Given the description of an element on the screen output the (x, y) to click on. 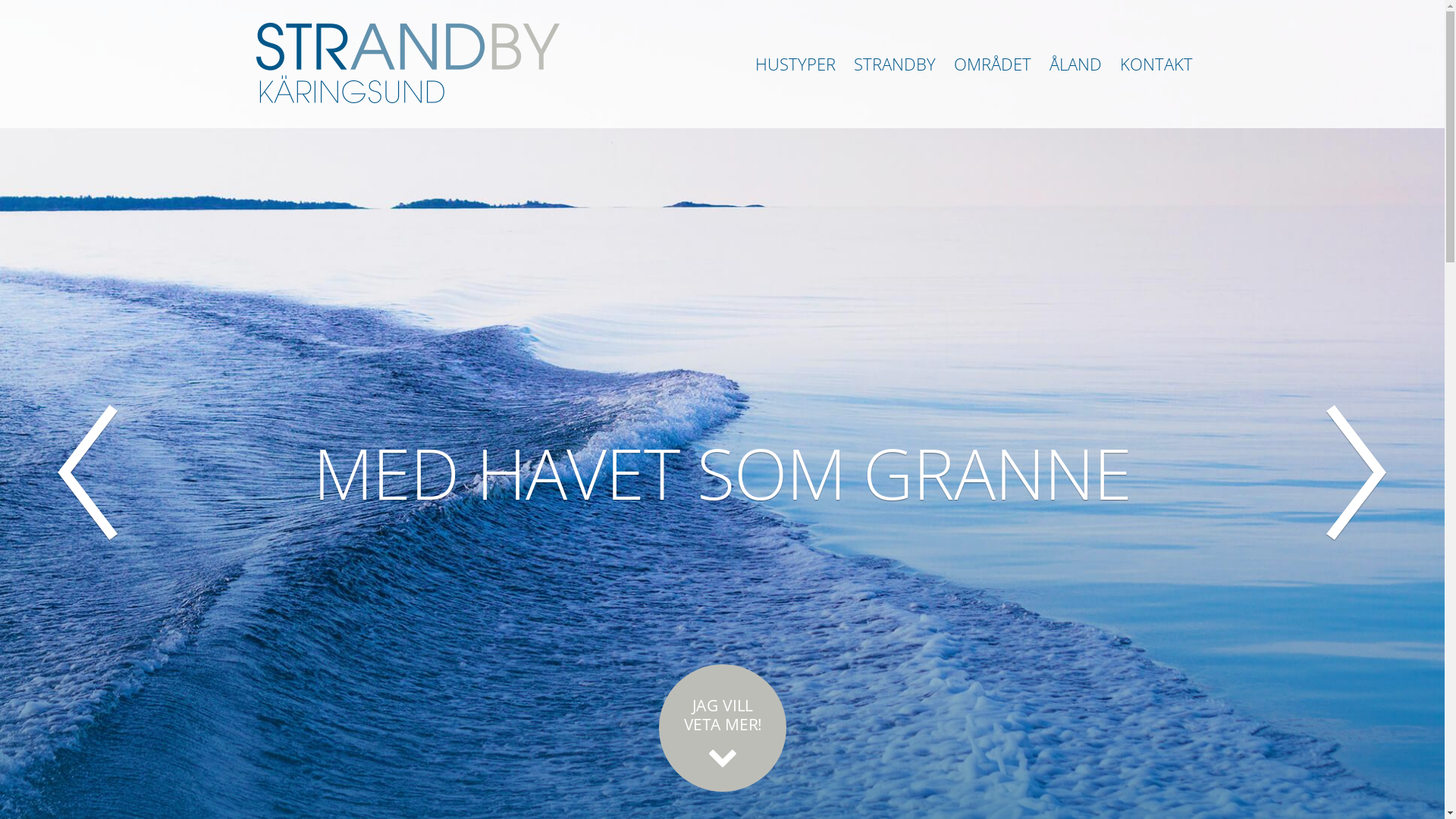
HUSTYPER Element type: text (795, 63)
STRANDBY Element type: text (894, 63)
KONTAKT Element type: text (1155, 63)
